Given the description of an element on the screen output the (x, y) to click on. 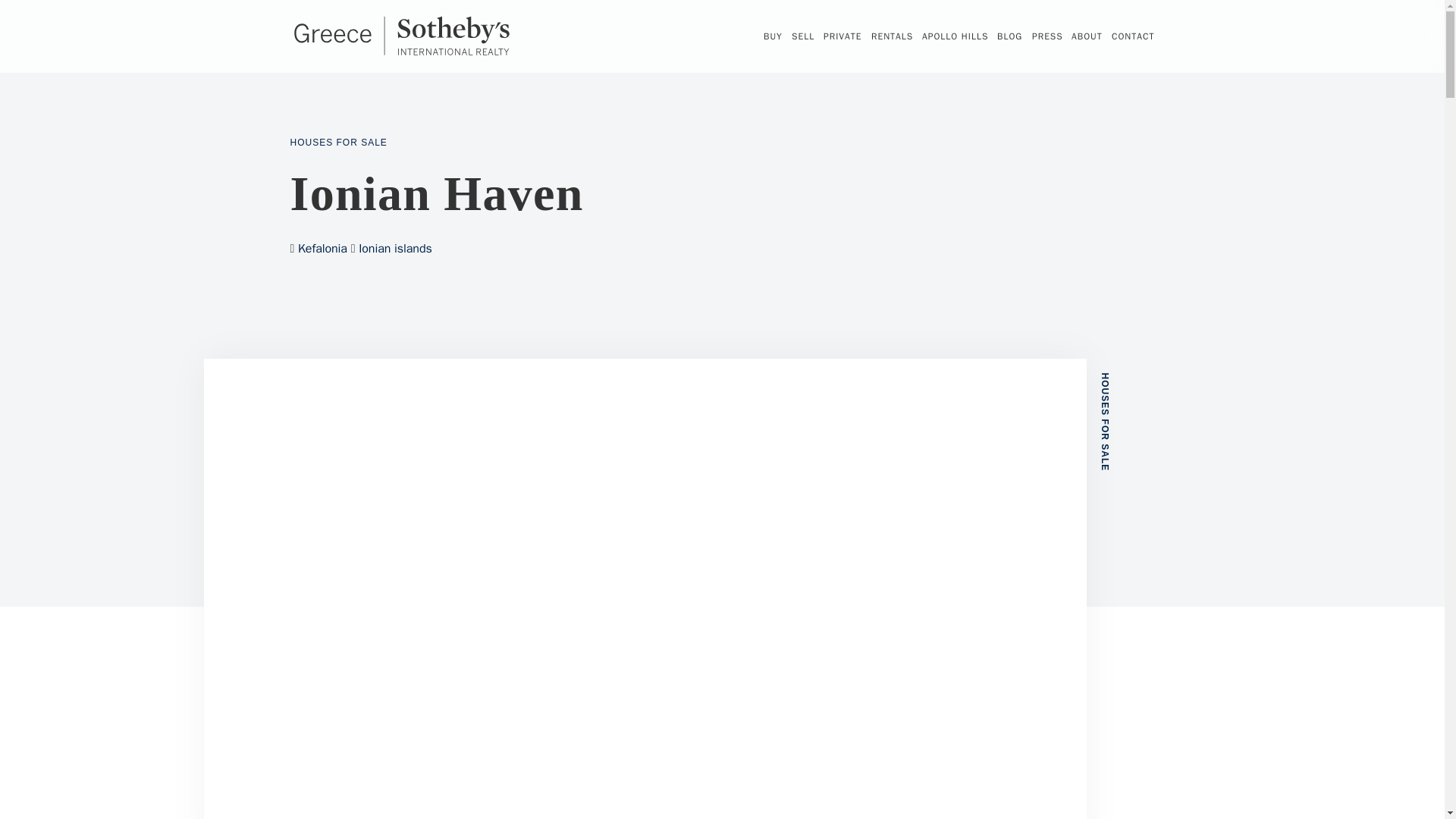
HOUSES FOR SALE (338, 143)
HOUSES FOR SALE (1146, 378)
Ionian islands (395, 248)
PRESS (1047, 36)
BUY (772, 36)
ABOUT (1086, 36)
BLOG (1009, 36)
SELL (802, 36)
Greece Sotheby's International Realty (399, 35)
RENTALS (891, 36)
